Given the description of an element on the screen output the (x, y) to click on. 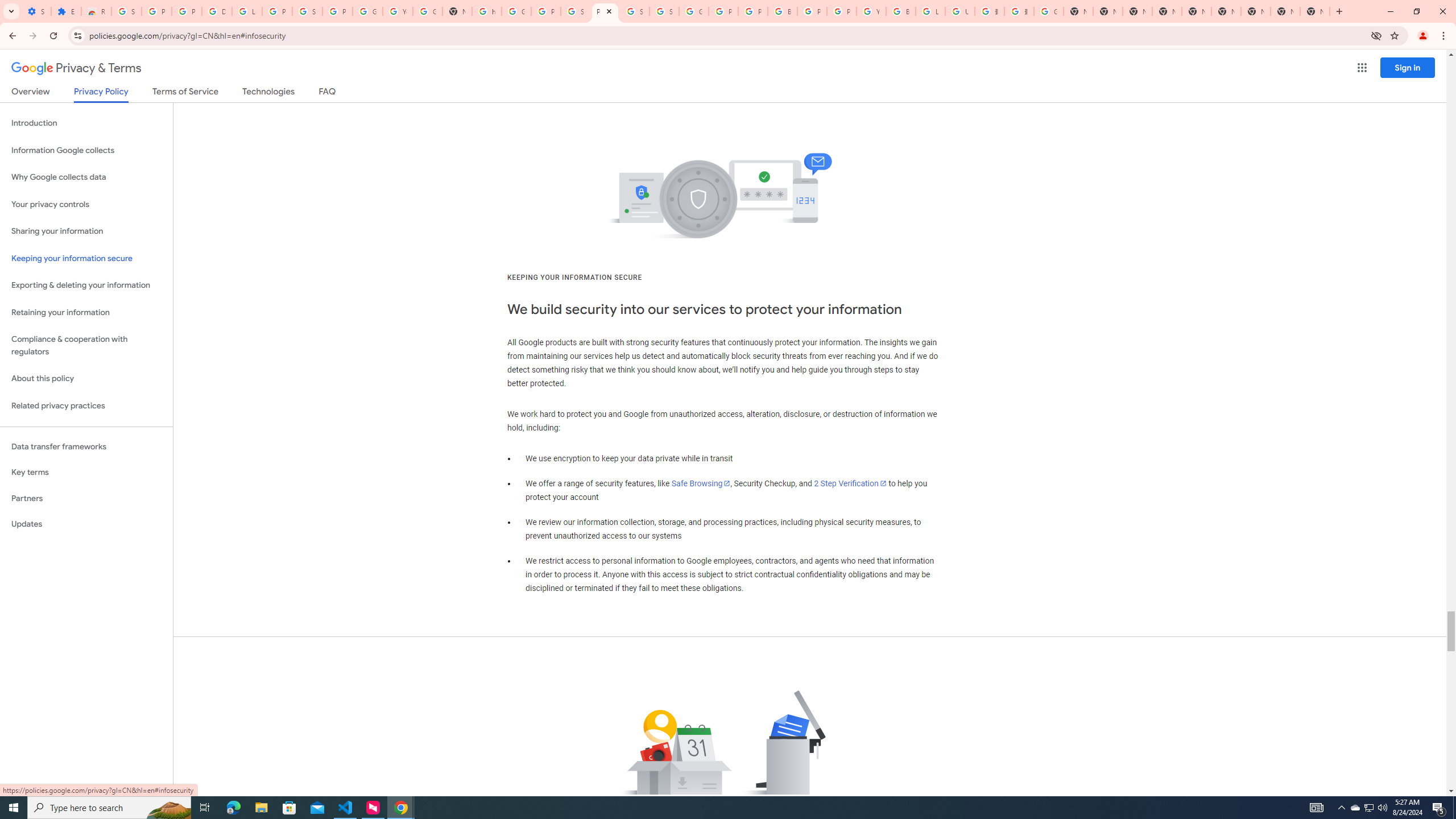
Safe Browsing (700, 483)
New Tab (1314, 11)
Related privacy practices (86, 405)
